Given the description of an element on the screen output the (x, y) to click on. 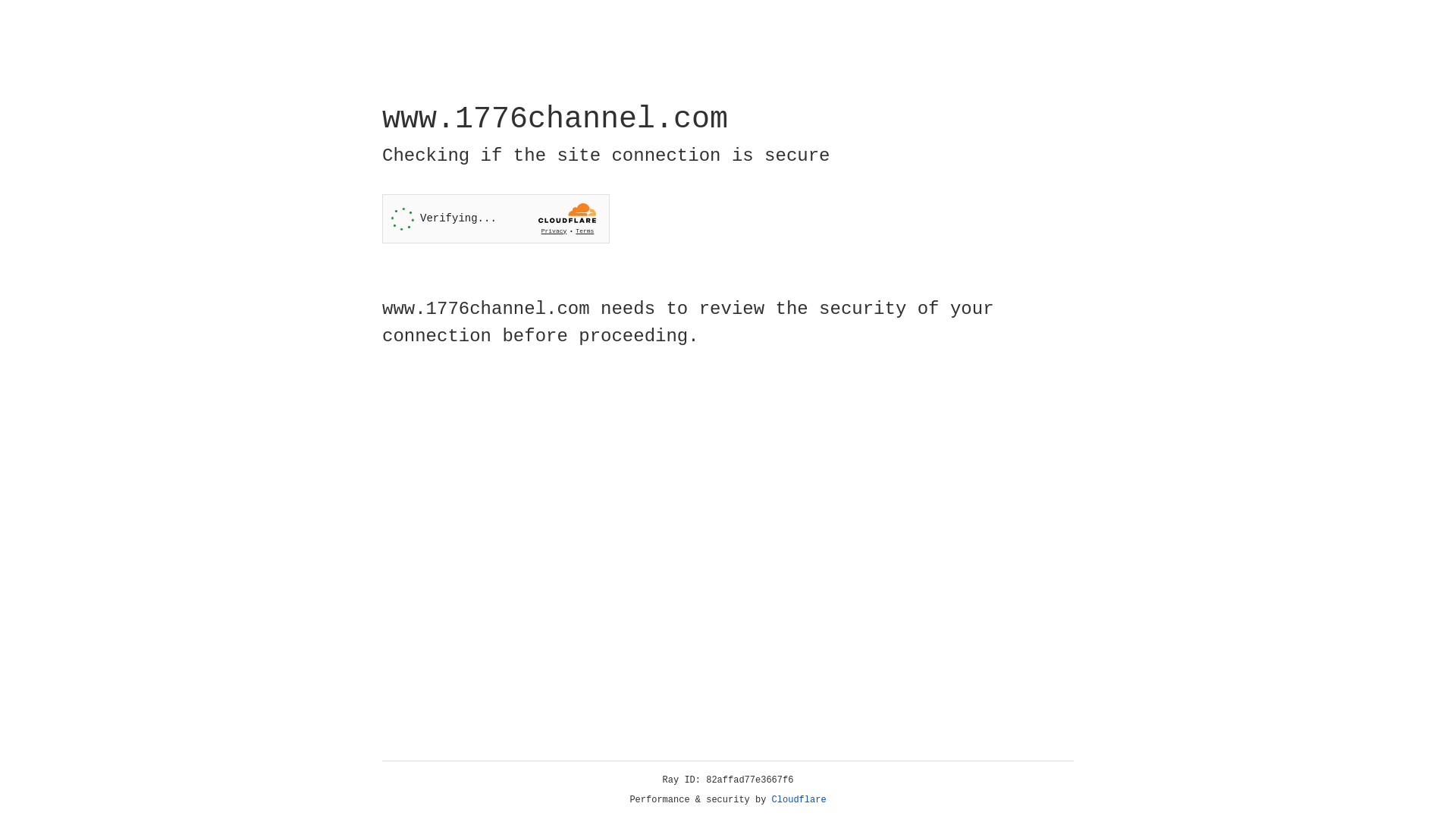
Widget containing a Cloudflare security challenge Element type: hover (495, 218)
Cloudflare Element type: text (798, 799)
